Given the description of an element on the screen output the (x, y) to click on. 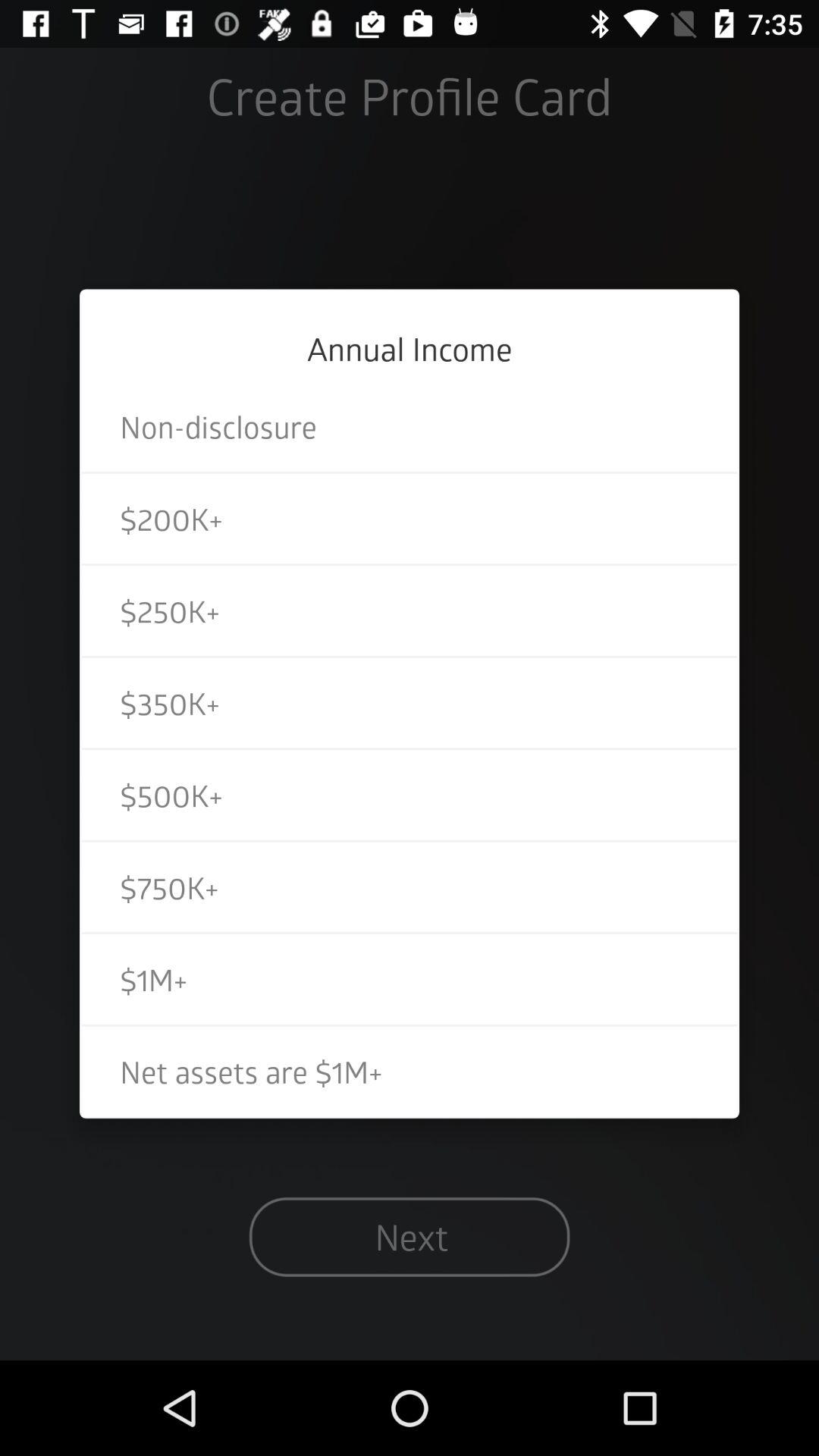
jump to $250k+ icon (409, 610)
